Given the description of an element on the screen output the (x, y) to click on. 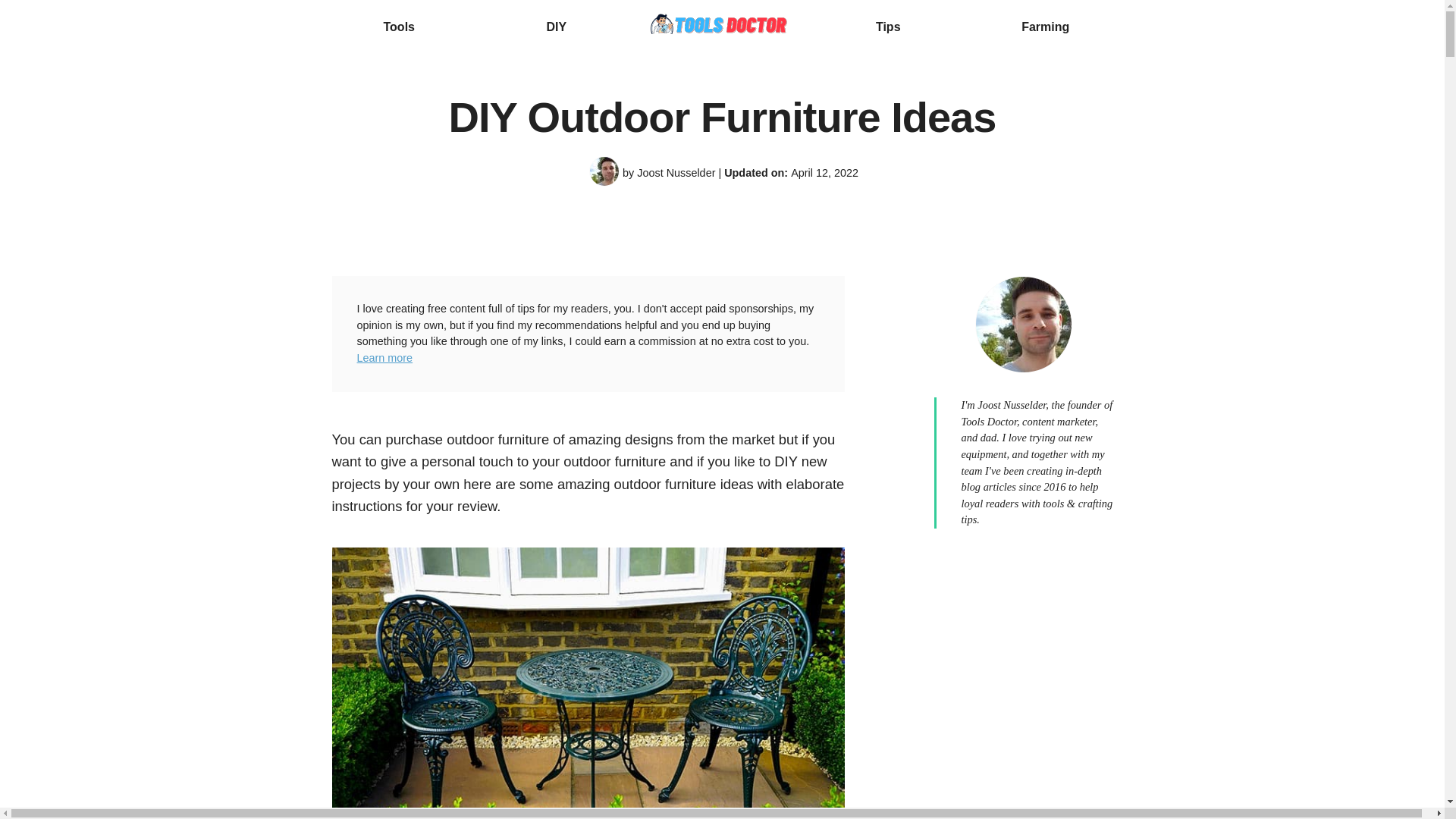
Tips (888, 26)
Tools (399, 26)
Logo (721, 27)
Farming (1045, 26)
DIY (556, 26)
Learn more (384, 357)
